Given the description of an element on the screen output the (x, y) to click on. 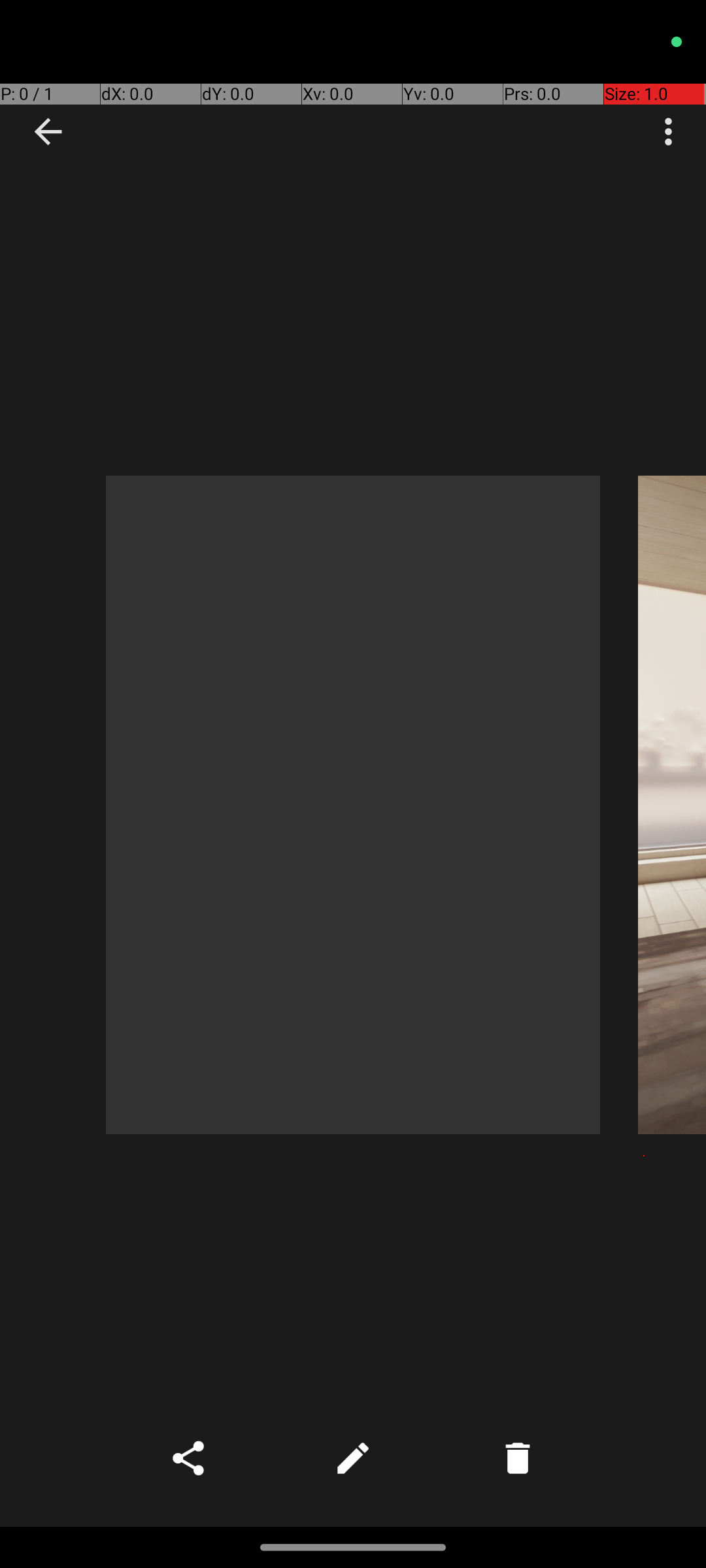
Edit Element type: android.widget.ImageButton (352, 1458)
Delete Element type: android.widget.ImageButton (517, 1458)
Navigate up Element type: android.widget.ImageButton (48, 131)
Photo taken on Oct 15, 2023 15:34:31 Element type: android.widget.ImageView (352, 804)
Photo taken on Oct 15, 2023 15:34:14 Element type: android.widget.ImageView (672, 804)
